Given the description of an element on the screen output the (x, y) to click on. 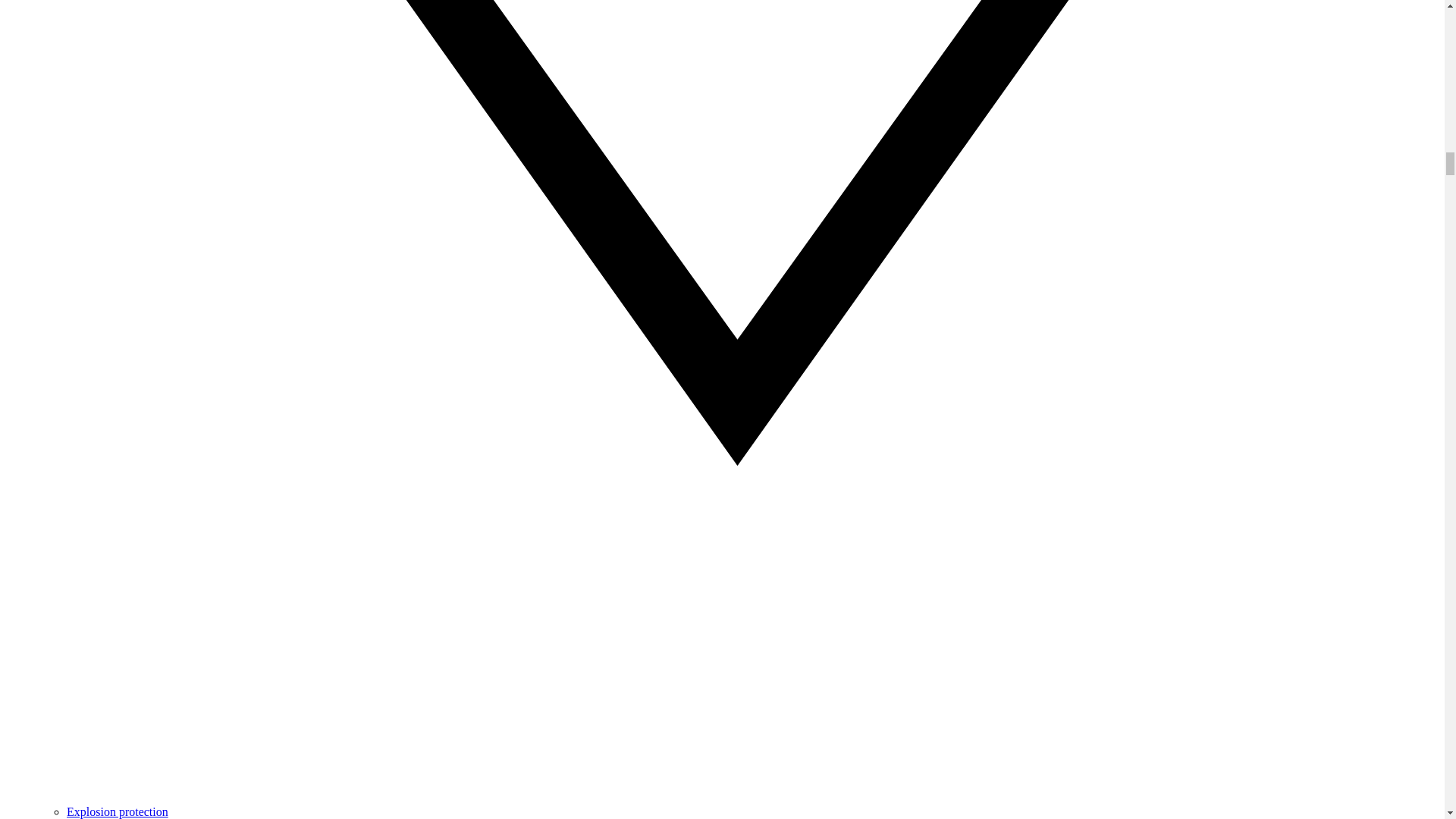
Explosion protection (117, 811)
